Given the description of an element on the screen output the (x, y) to click on. 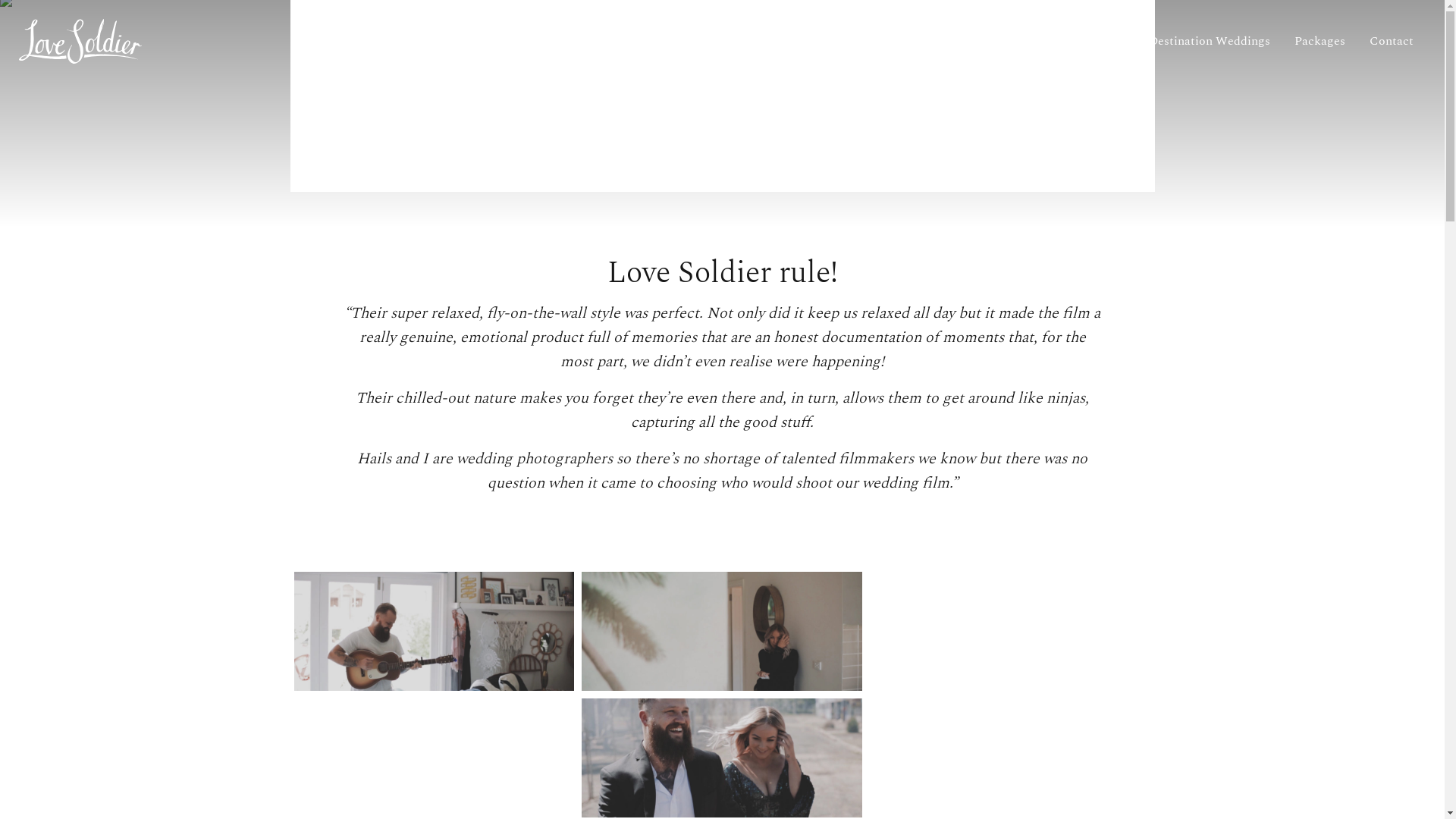
Contact Element type: text (1391, 40)
Destination Weddings Element type: text (1209, 40)
Films Element type: text (1108, 40)
Home Element type: text (993, 40)
About Element type: text (1051, 40)
Packages Element type: text (1319, 40)
